Given the description of an element on the screen output the (x, y) to click on. 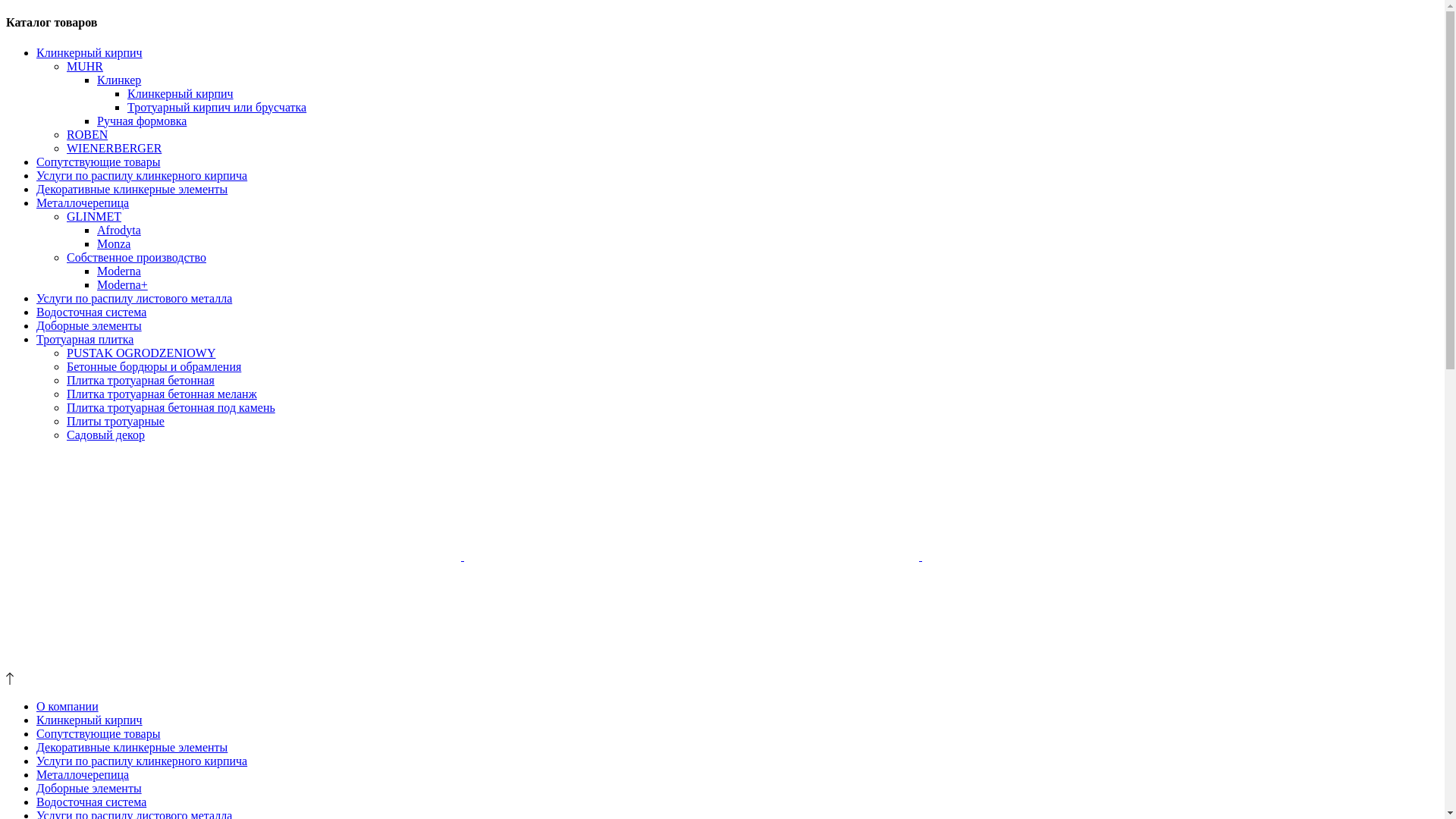
Moderna+ Element type: text (122, 284)
MUHR Element type: text (84, 65)
PUSTAK OGRODZENIOWY Element type: text (140, 352)
ROBEN Element type: text (86, 134)
Moderna Element type: text (119, 270)
WIENERBERGER Element type: text (113, 147)
Afrodyta Element type: text (119, 229)
Monza Element type: text (113, 243)
GLINMET Element type: text (93, 216)
